Given the description of an element on the screen output the (x, y) to click on. 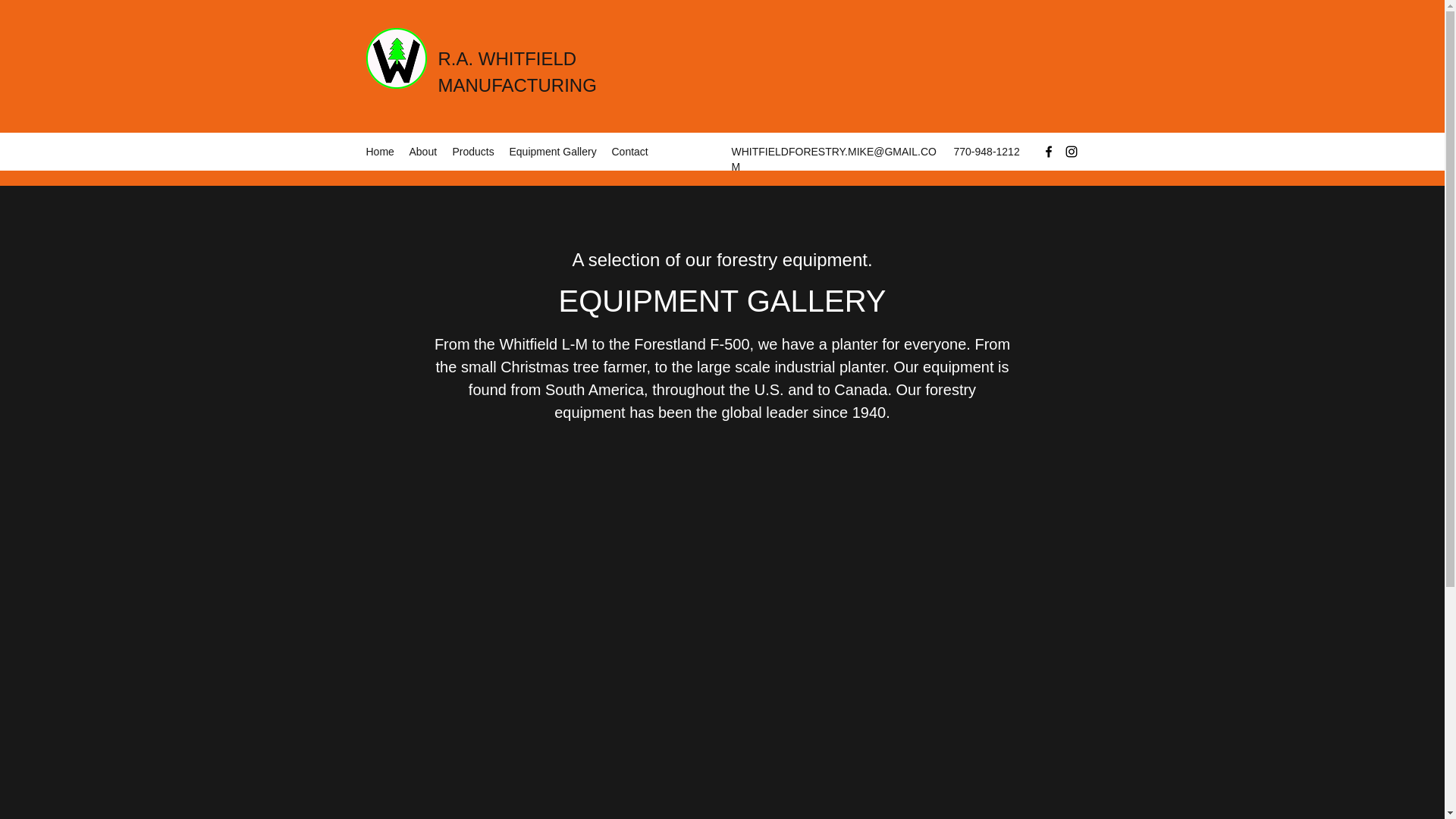
Equipment Gallery (553, 151)
Home (379, 151)
Products (472, 151)
About (423, 151)
Contact (629, 151)
